Given the description of an element on the screen output the (x, y) to click on. 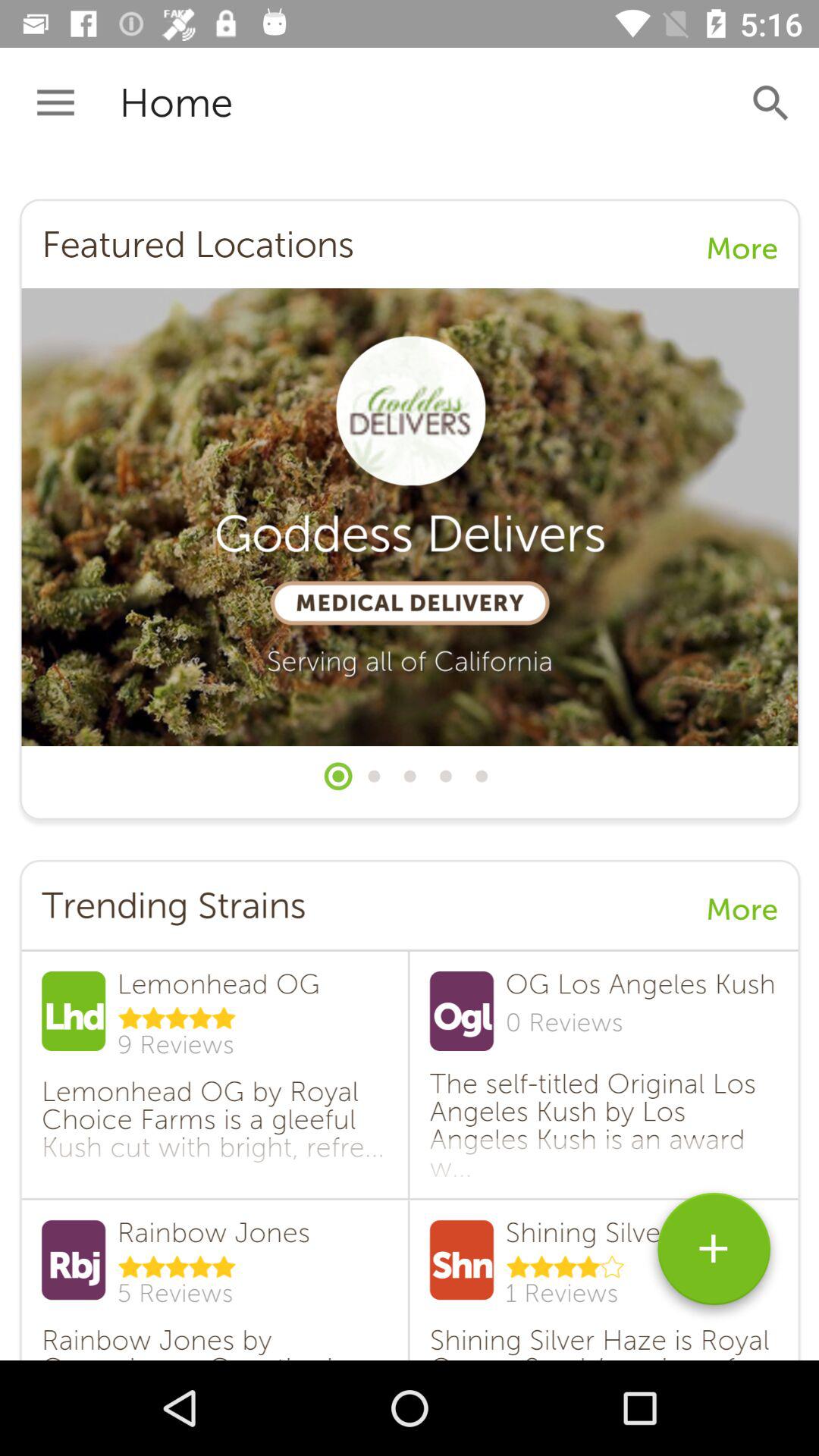
add symbol (713, 1254)
